Given the description of an element on the screen output the (x, y) to click on. 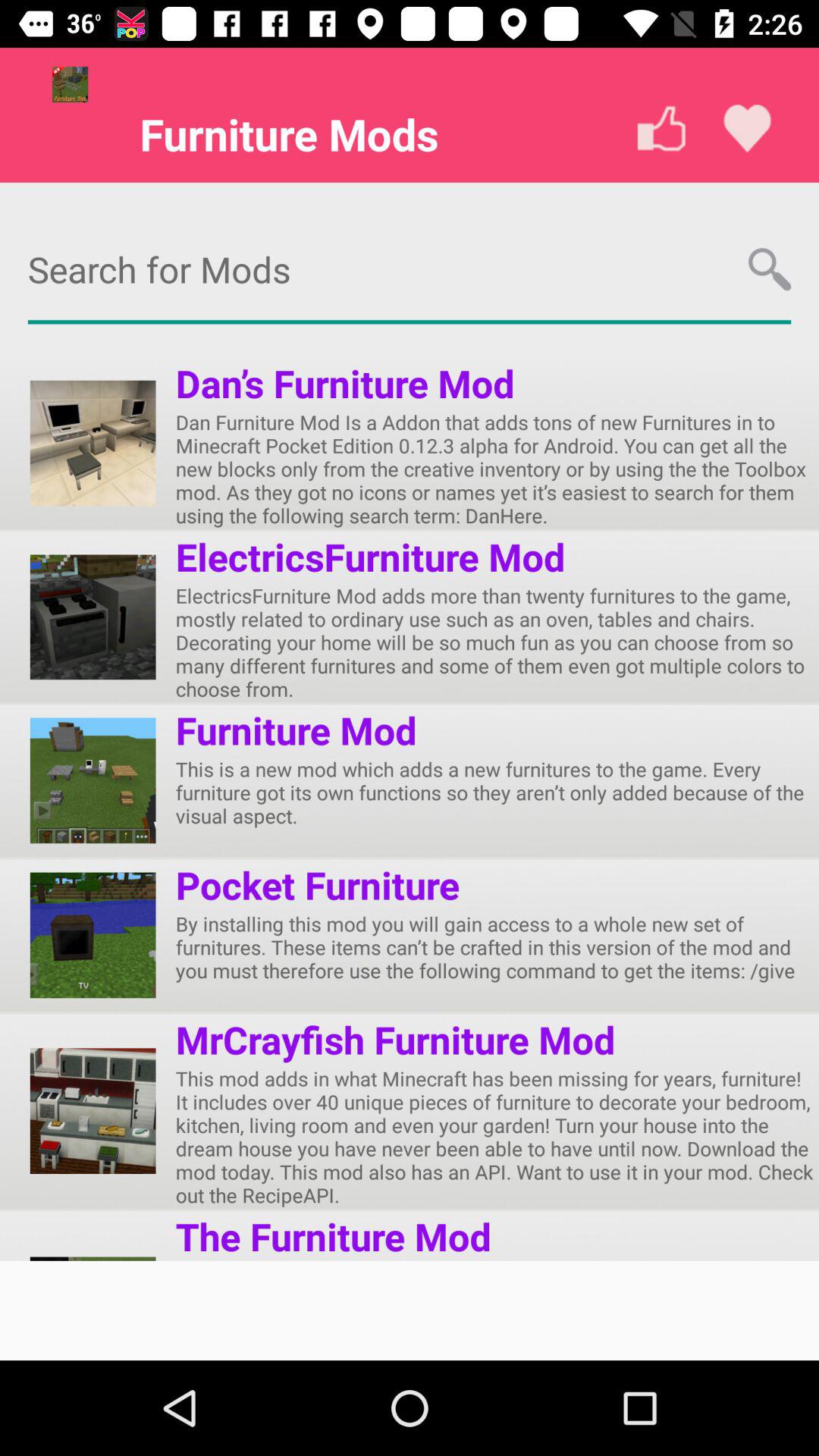
click the mrcrayfish furniture mod icon (395, 1039)
